Given the description of an element on the screen output the (x, y) to click on. 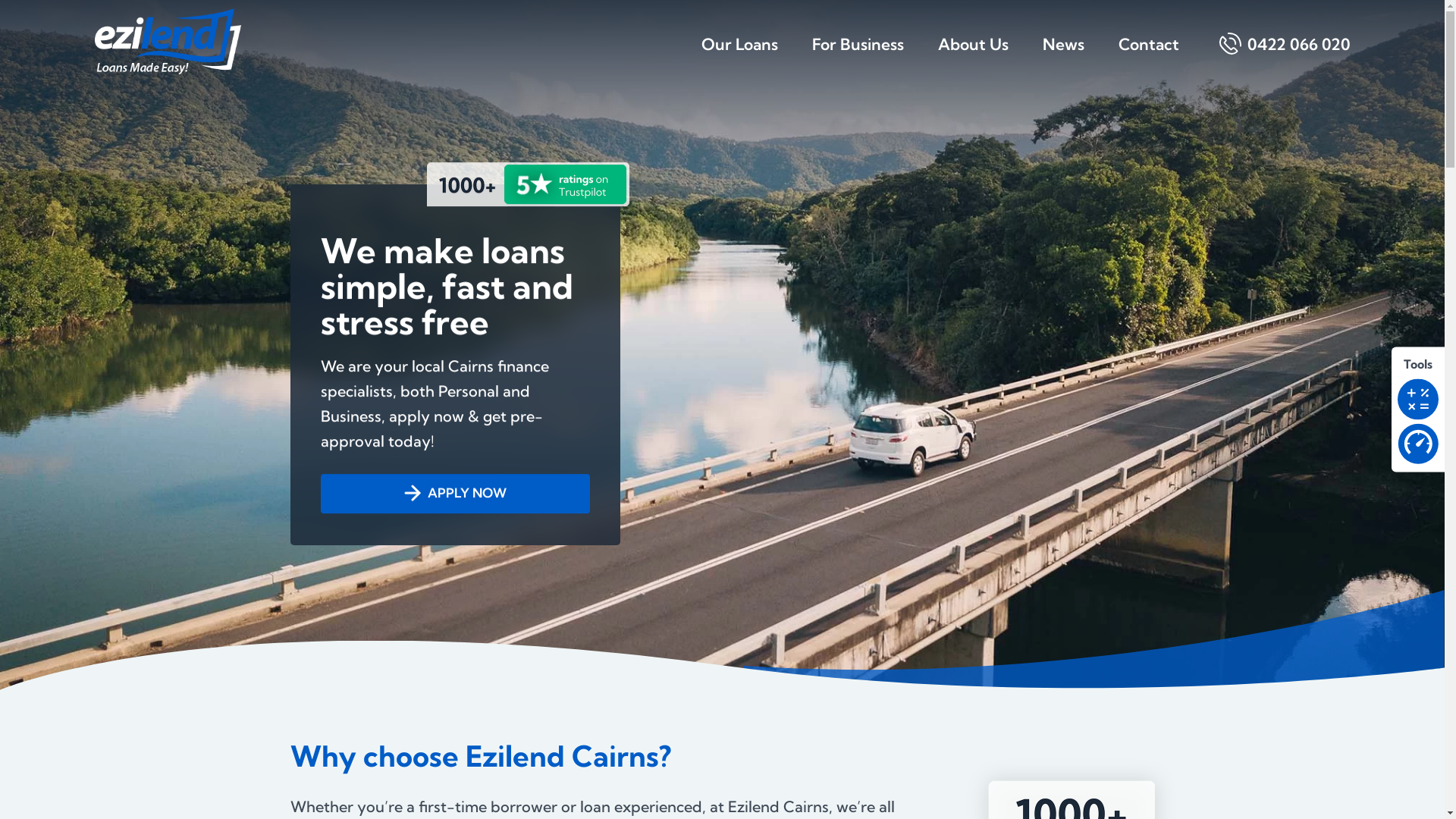
Contact Element type: text (1147, 55)
About Us Element type: text (972, 55)
News Element type: text (1062, 55)
APPLY NOW Element type: text (454, 493)
Ezilend Element type: hover (167, 41)
Our Loans Element type: text (738, 55)
0422 066 020 Element type: text (1290, 55)
For Business Element type: text (857, 55)
